Given the description of an element on the screen output the (x, y) to click on. 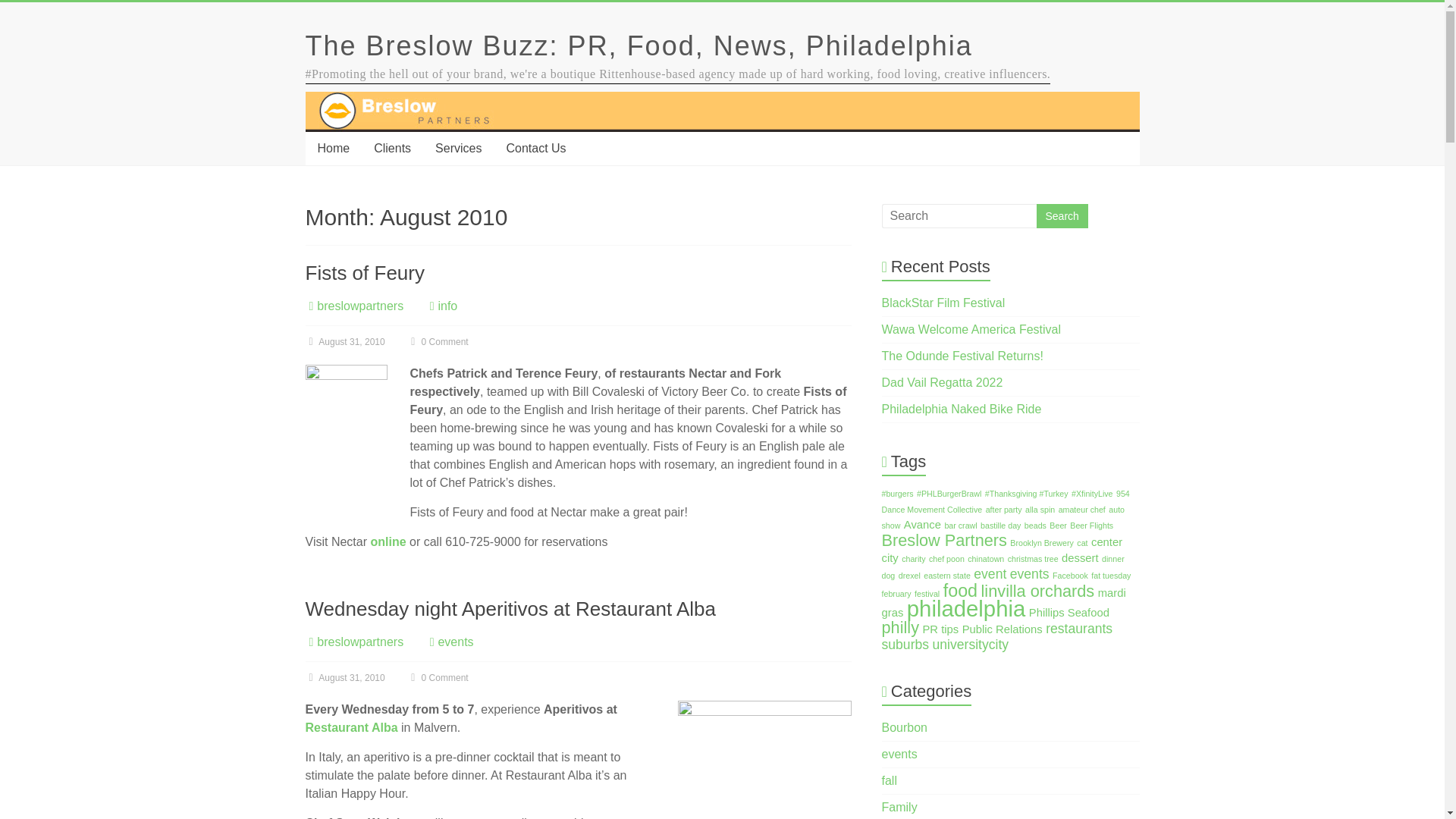
apps (764, 758)
Services (458, 148)
Wednesday night Aperitivos at Restaurant Alba (510, 608)
1:38 pm (344, 677)
The Breslow Buzz: PR, Food, News, Philadelphia (638, 45)
0 Comment (437, 677)
breslowpartners (360, 641)
Search (1061, 215)
breslowpartners (360, 305)
Home (332, 148)
